Given the description of an element on the screen output the (x, y) to click on. 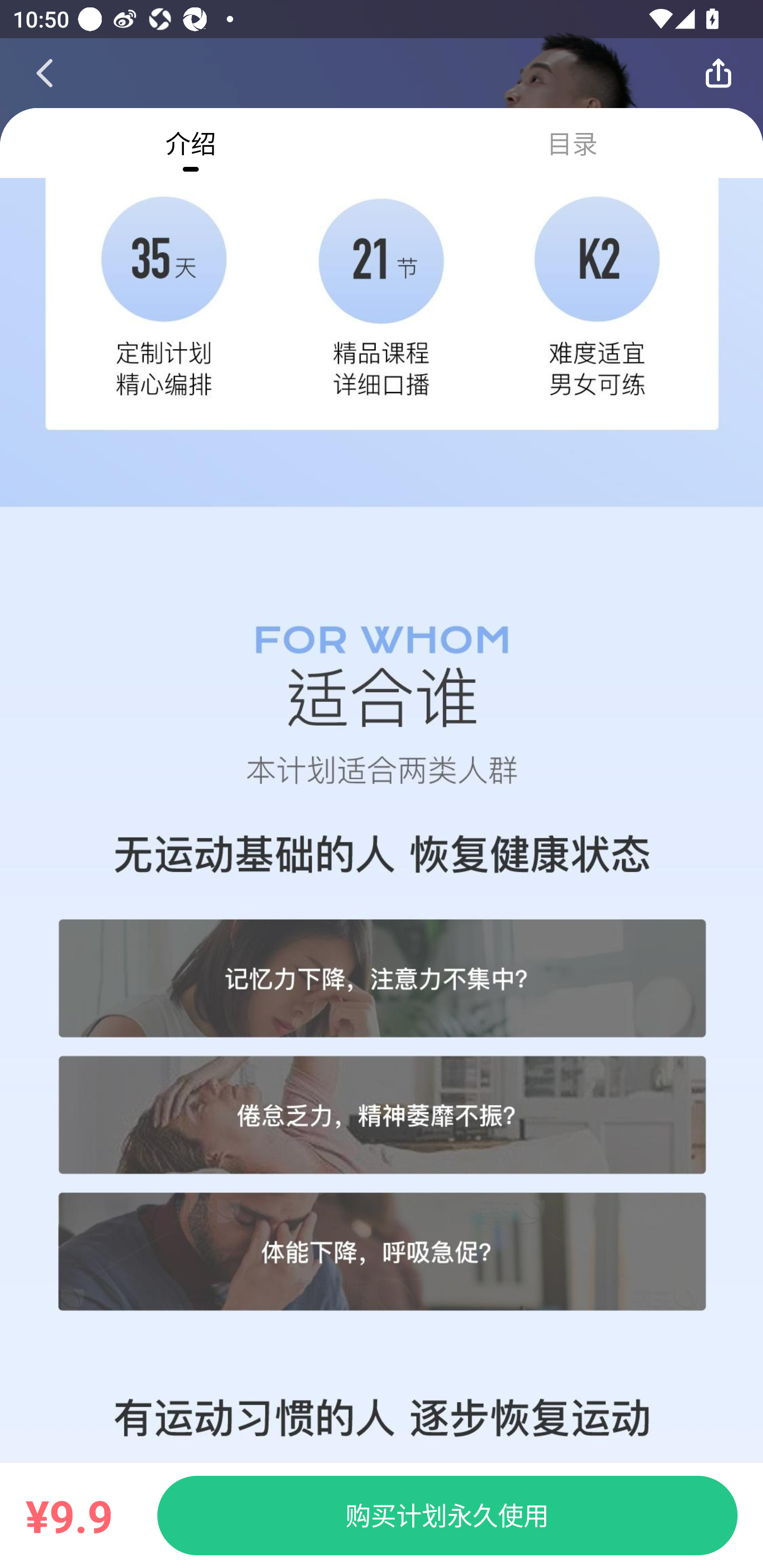
介绍 (190, 143)
目录 (572, 143)
购买计划永久使用 (447, 1515)
